Given the description of an element on the screen output the (x, y) to click on. 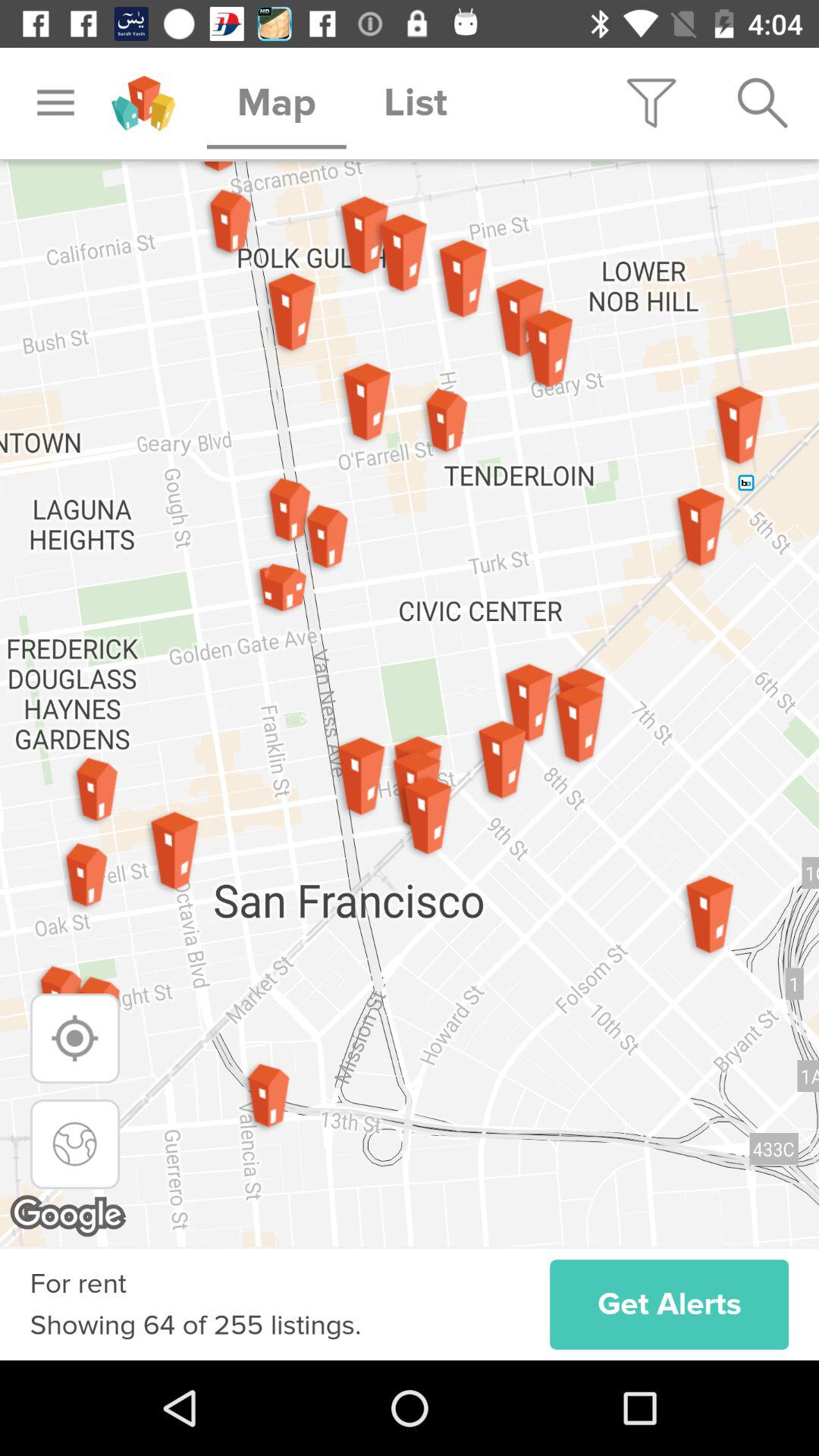
recenter map view (75, 1144)
